Given the description of an element on the screen output the (x, y) to click on. 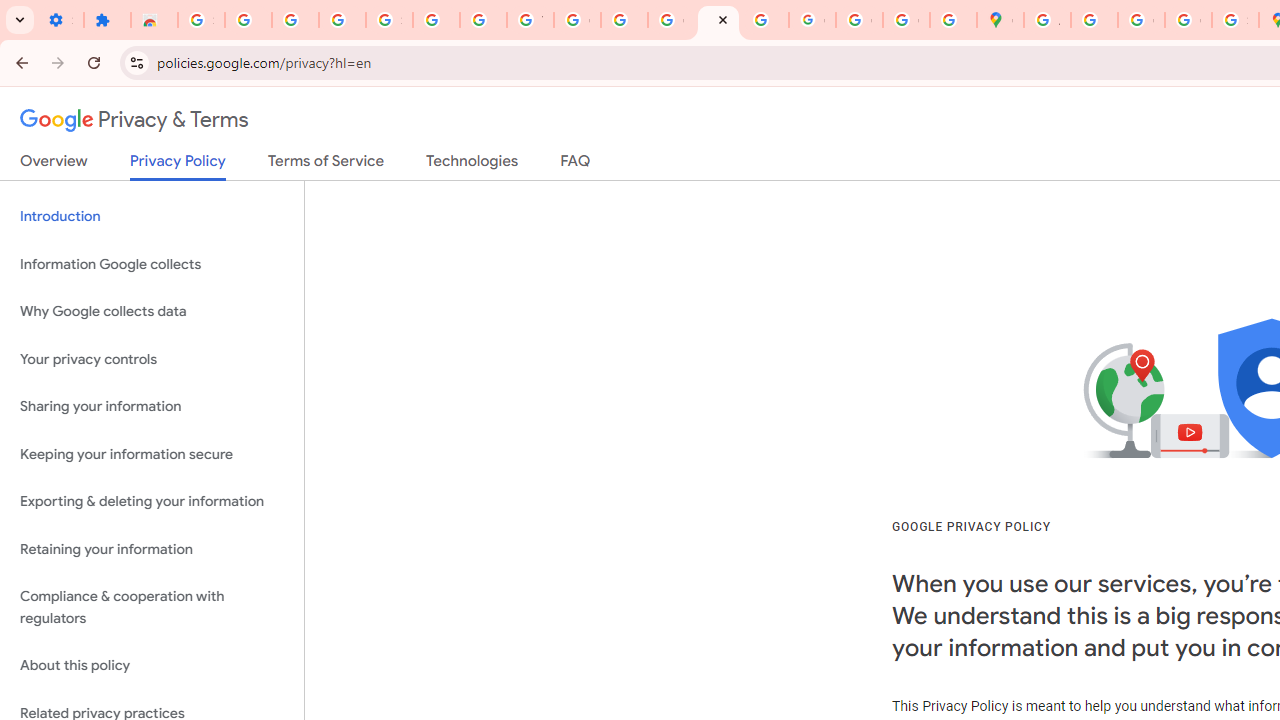
Exporting & deleting your information (152, 502)
Sharing your information (152, 407)
Why Google collects data (152, 312)
Extensions (107, 20)
Your privacy controls (152, 358)
Technologies (472, 165)
Delete photos & videos - Computer - Google Photos Help (248, 20)
Forward (57, 62)
Create your Google Account (1140, 20)
Sign in - Google Accounts (201, 20)
Compliance & cooperation with regulators (152, 607)
Close (723, 19)
